Given the description of an element on the screen output the (x, y) to click on. 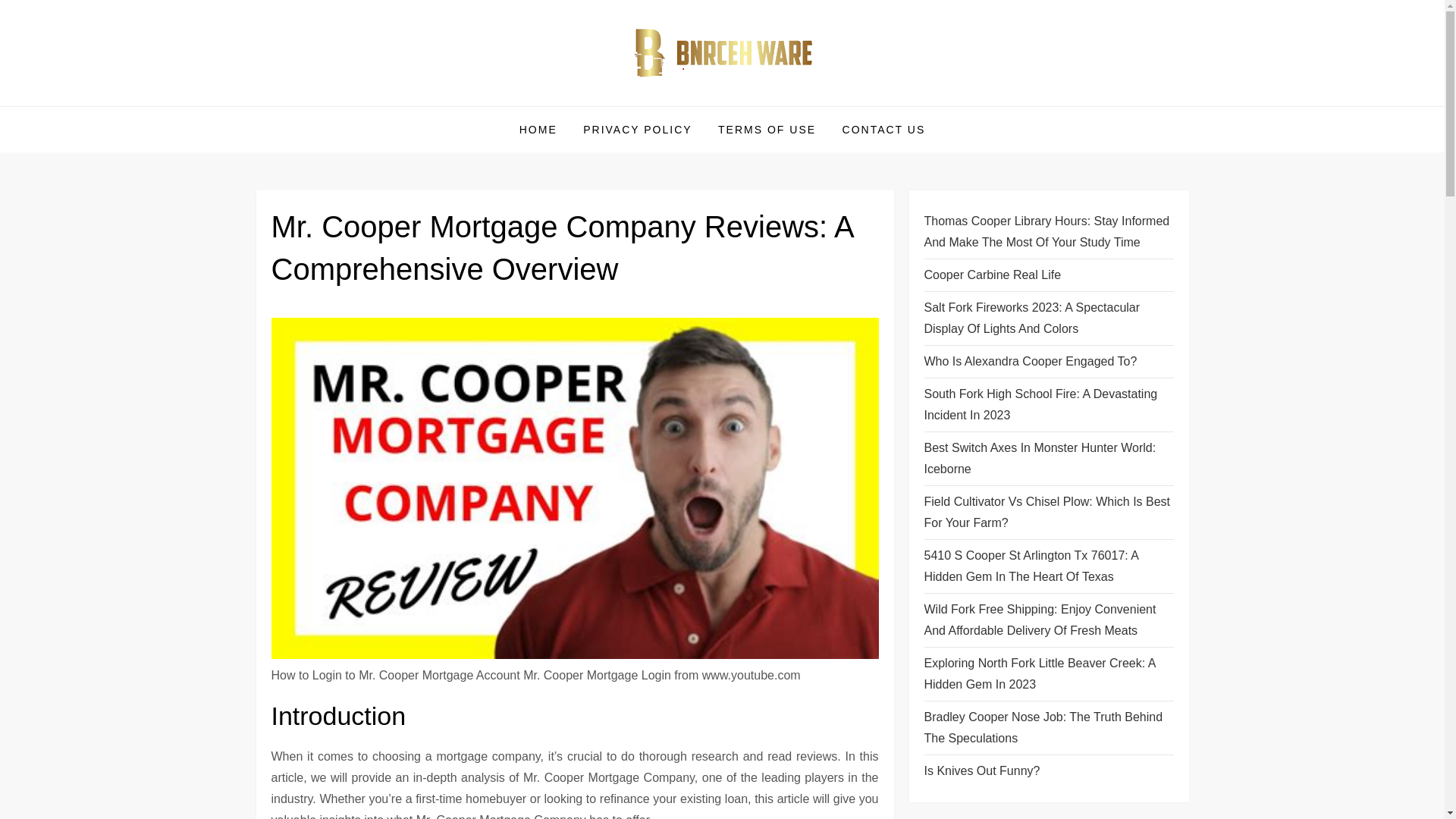
Who Is Alexandra Cooper Engaged To? (1030, 361)
Bradley Cooper Nose Job: The Truth Behind The Speculations (1048, 727)
Best Switch Axes In Monster Hunter World: Iceborne (1048, 458)
PRIVACY POLICY (637, 129)
Bnrceh Ware (344, 105)
South Fork High School Fire: A Devastating Incident In 2023 (1048, 404)
Cooper Carbine Real Life (992, 274)
TERMS OF USE (766, 129)
Is Knives Out Funny? (981, 771)
